Given the description of an element on the screen output the (x, y) to click on. 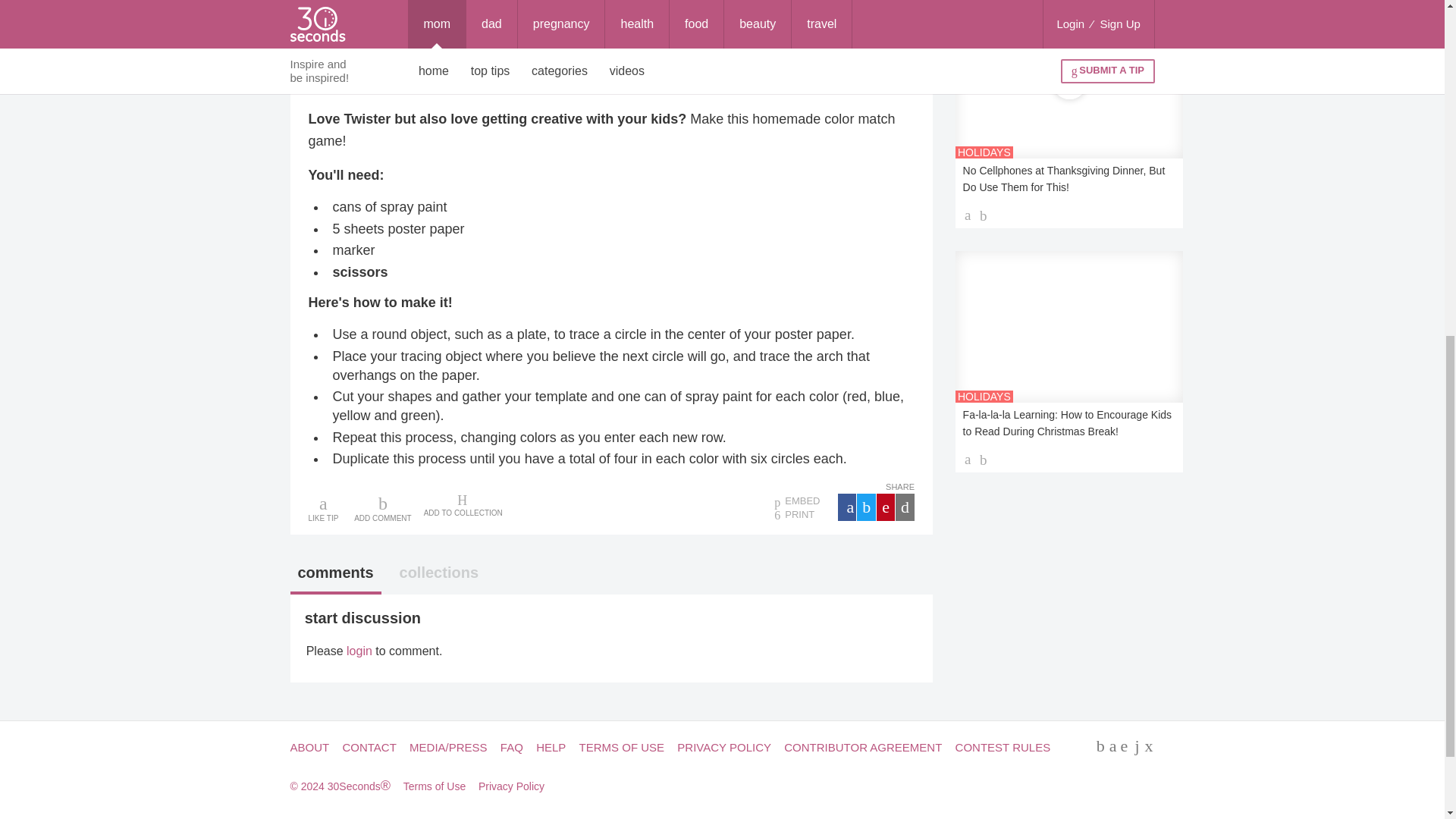
ADD COMMENT (382, 507)
